Given the description of an element on the screen output the (x, y) to click on. 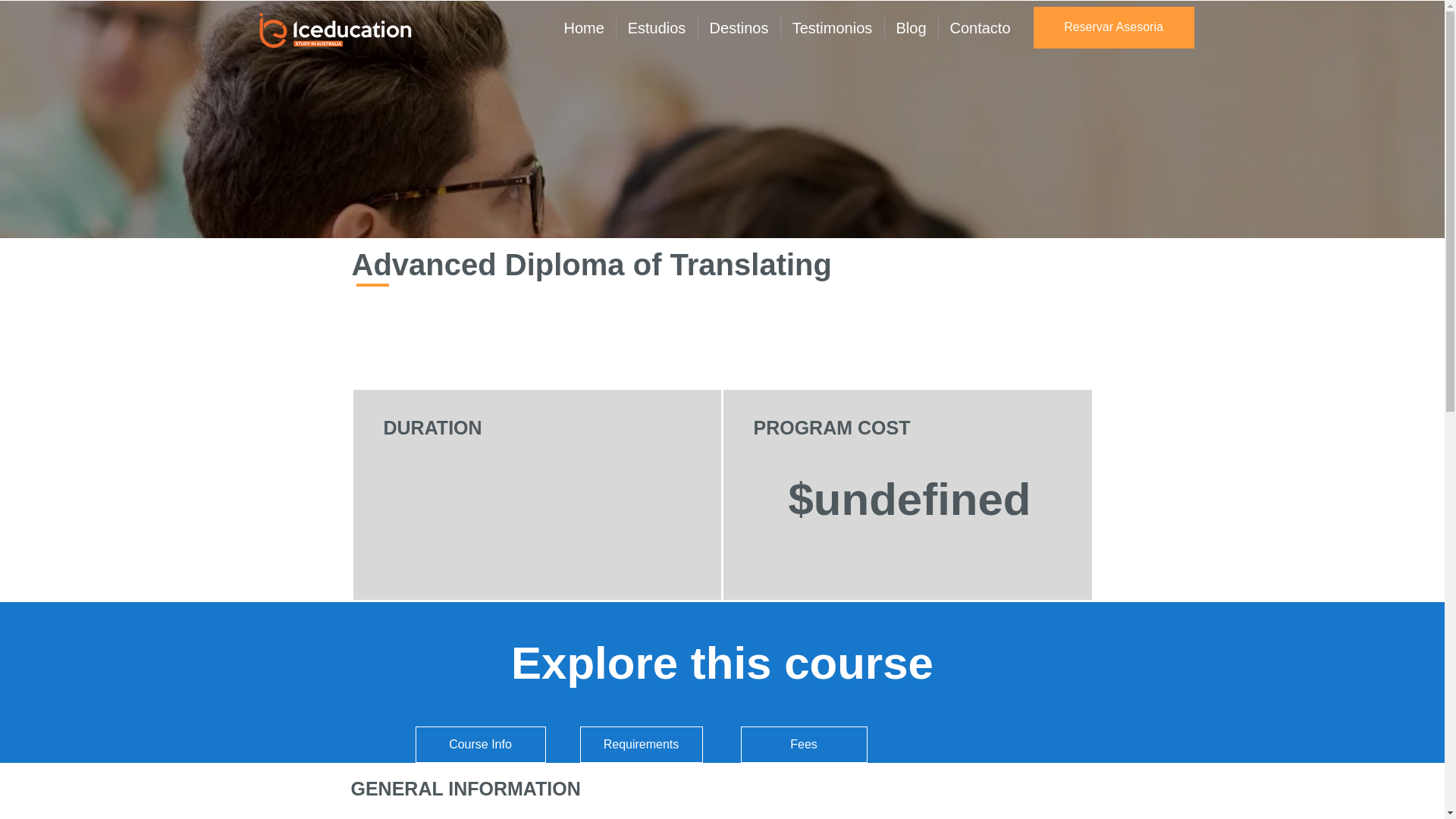
Testimonios Element type: text (832, 27)
Destinos Element type: text (738, 27)
Reservar Asesoria Element type: text (1112, 27)
Contacto Element type: text (980, 27)
Home Element type: text (583, 27)
Estudios Element type: text (655, 27)
Blog Element type: text (910, 27)
